Given the description of an element on the screen output the (x, y) to click on. 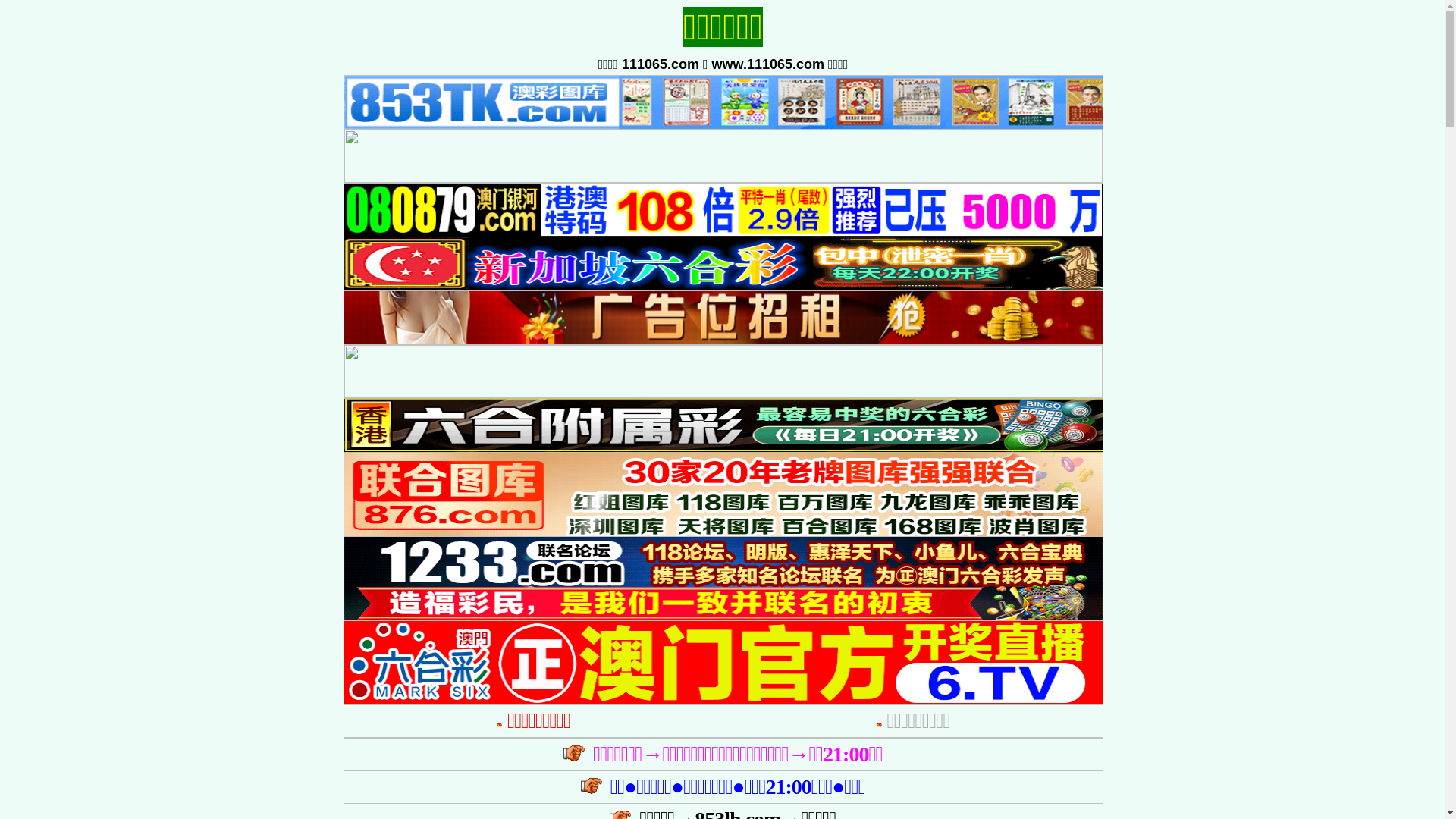
111065.com Element type: text (660, 64)
www.111065.com Element type: text (768, 64)
